Given the description of an element on the screen output the (x, y) to click on. 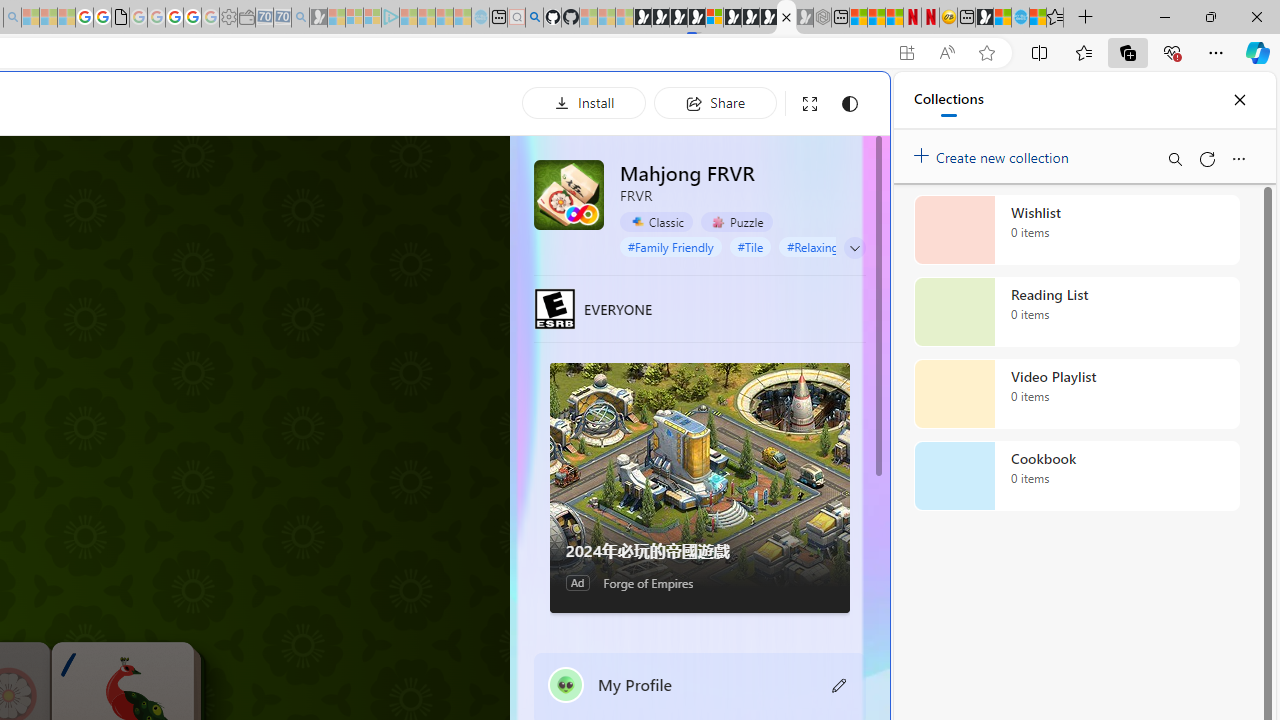
More options menu (1238, 158)
Reading List collection, 0 items (1076, 312)
Wishlist collection, 0 items (1076, 229)
Classic (656, 222)
App available. Install Mahjong FRVR (906, 53)
""'s avatar (565, 684)
